Given the description of an element on the screen output the (x, y) to click on. 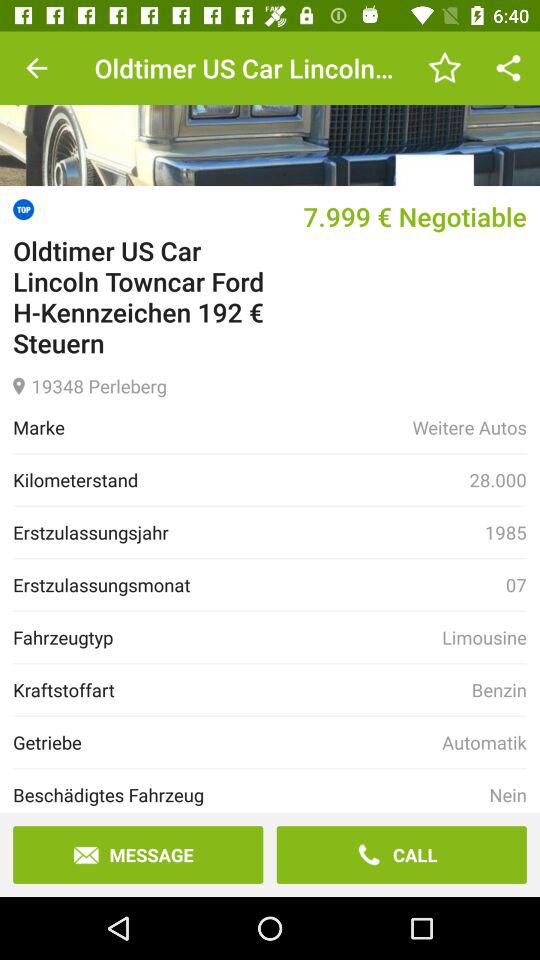
select the item next to limousine icon (227, 637)
